Given the description of an element on the screen output the (x, y) to click on. 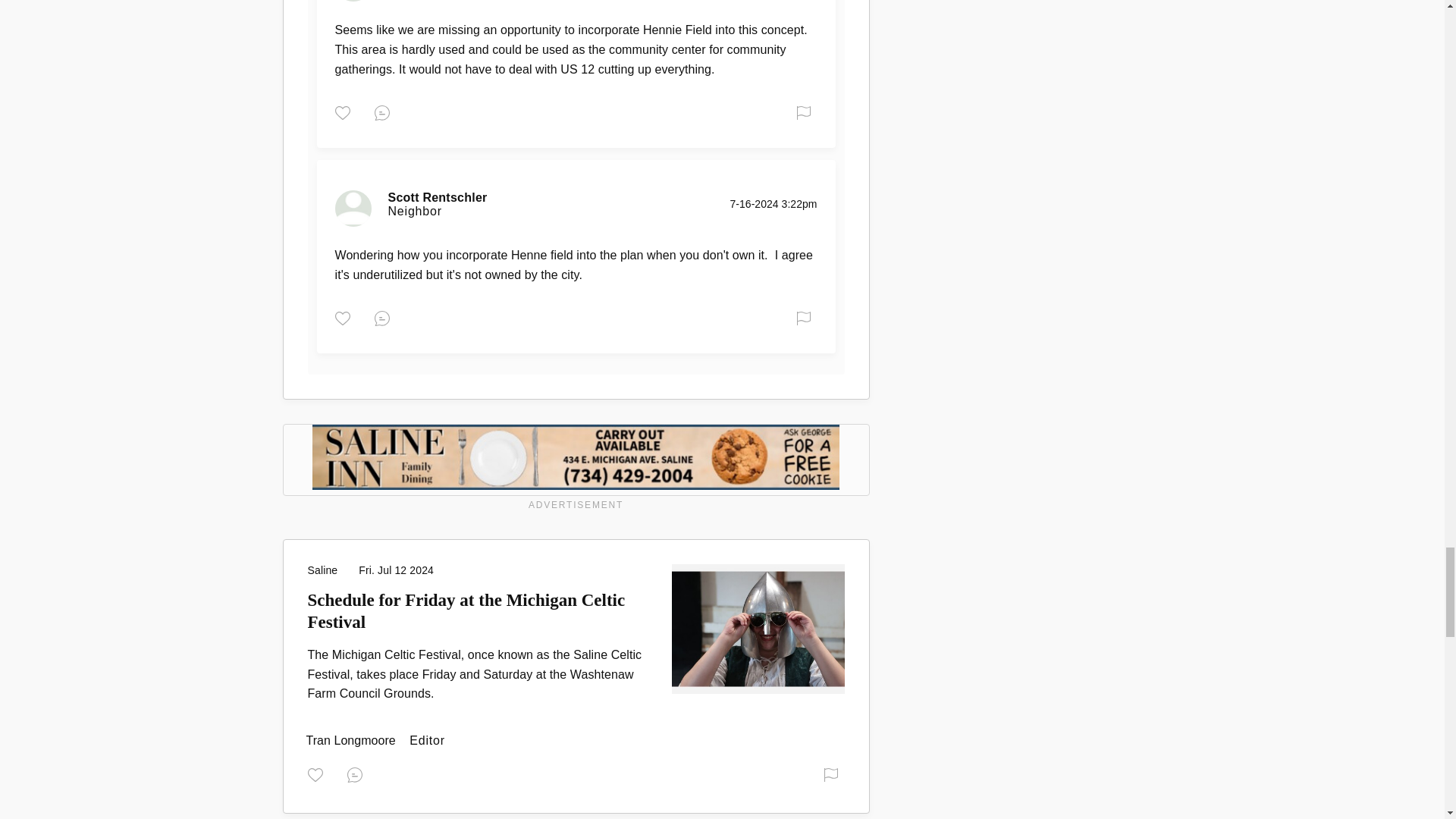
ADVERTISEMENT (575, 469)
